Given the description of an element on the screen output the (x, y) to click on. 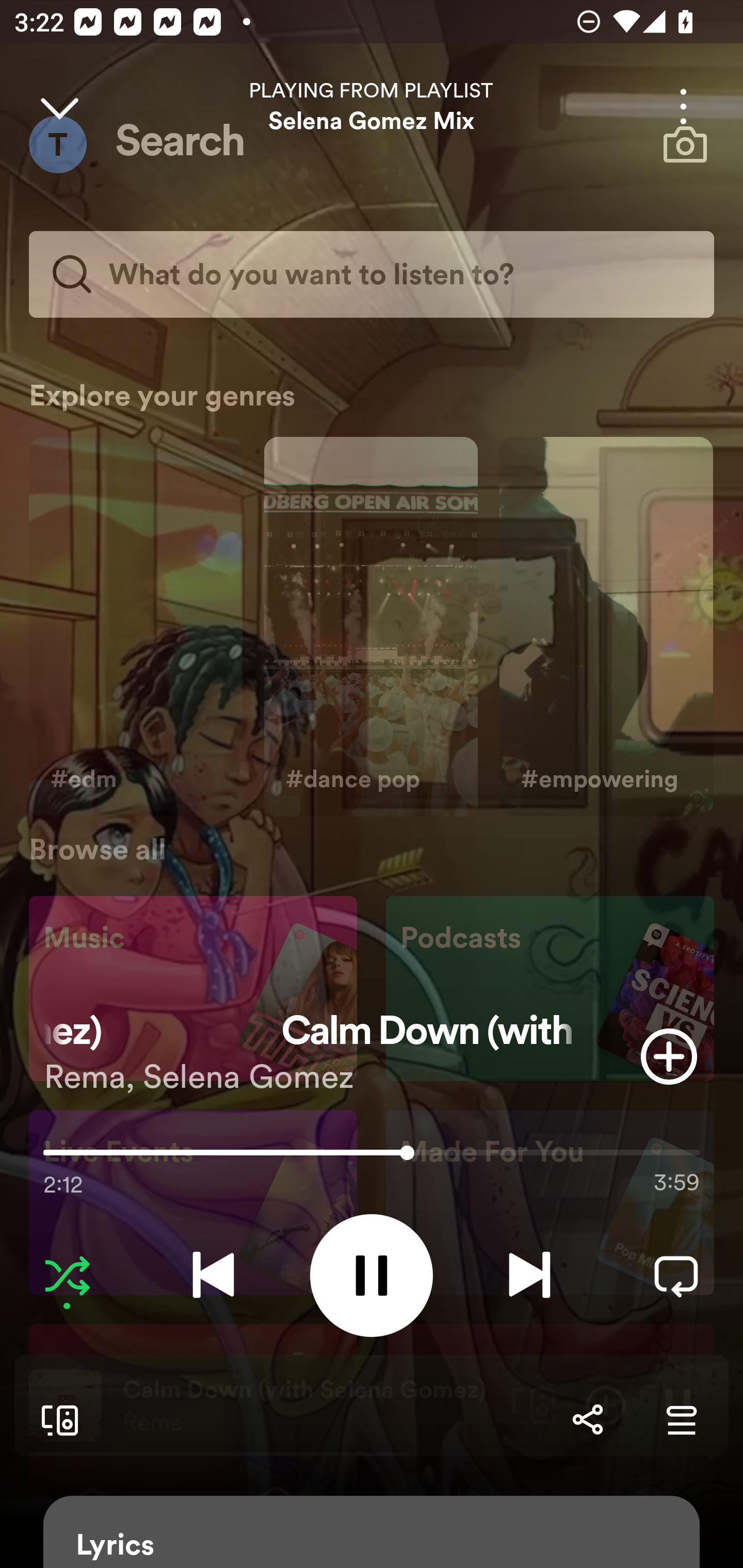
Close (59, 106)
PLAYING FROM PLAYLIST Selena Gomez Mix (371, 106)
Add item (669, 1056)
2:12 3:59 132544.0 Use volume keys to adjust (371, 1157)
Pause (371, 1275)
Previous (212, 1275)
Next (529, 1275)
Stop shuffling tracks (66, 1275)
Repeat (676, 1275)
Share (587, 1419)
Go to Queue (681, 1419)
Connect to a device. Opens the devices menu (55, 1419)
Lyrics (371, 1531)
